Given the description of an element on the screen output the (x, y) to click on. 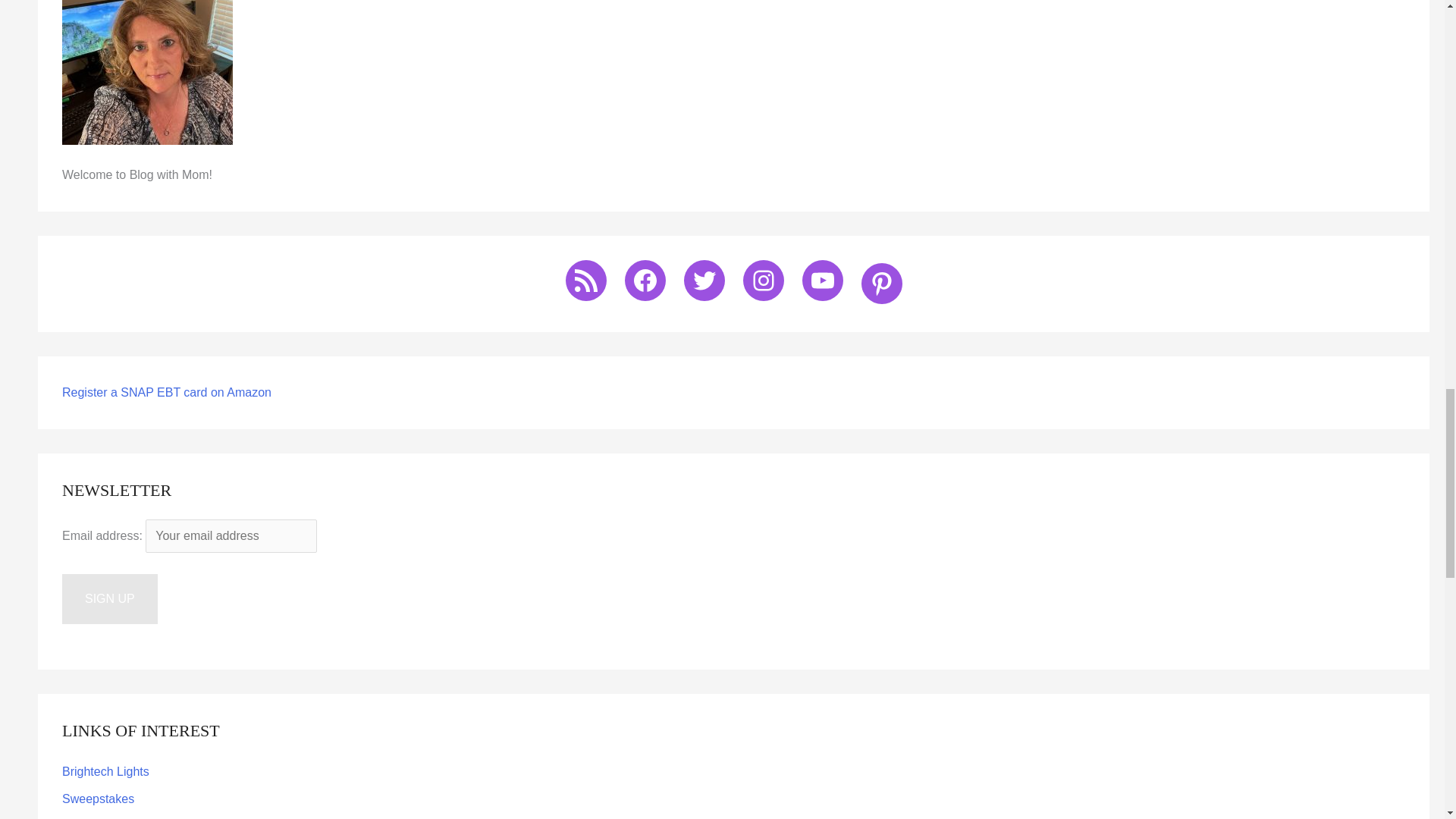
Sweepstakes (97, 798)
Awesome lighting for your home! (105, 771)
Sign up (109, 599)
RSS Feed (586, 280)
